Given the description of an element on the screen output the (x, y) to click on. 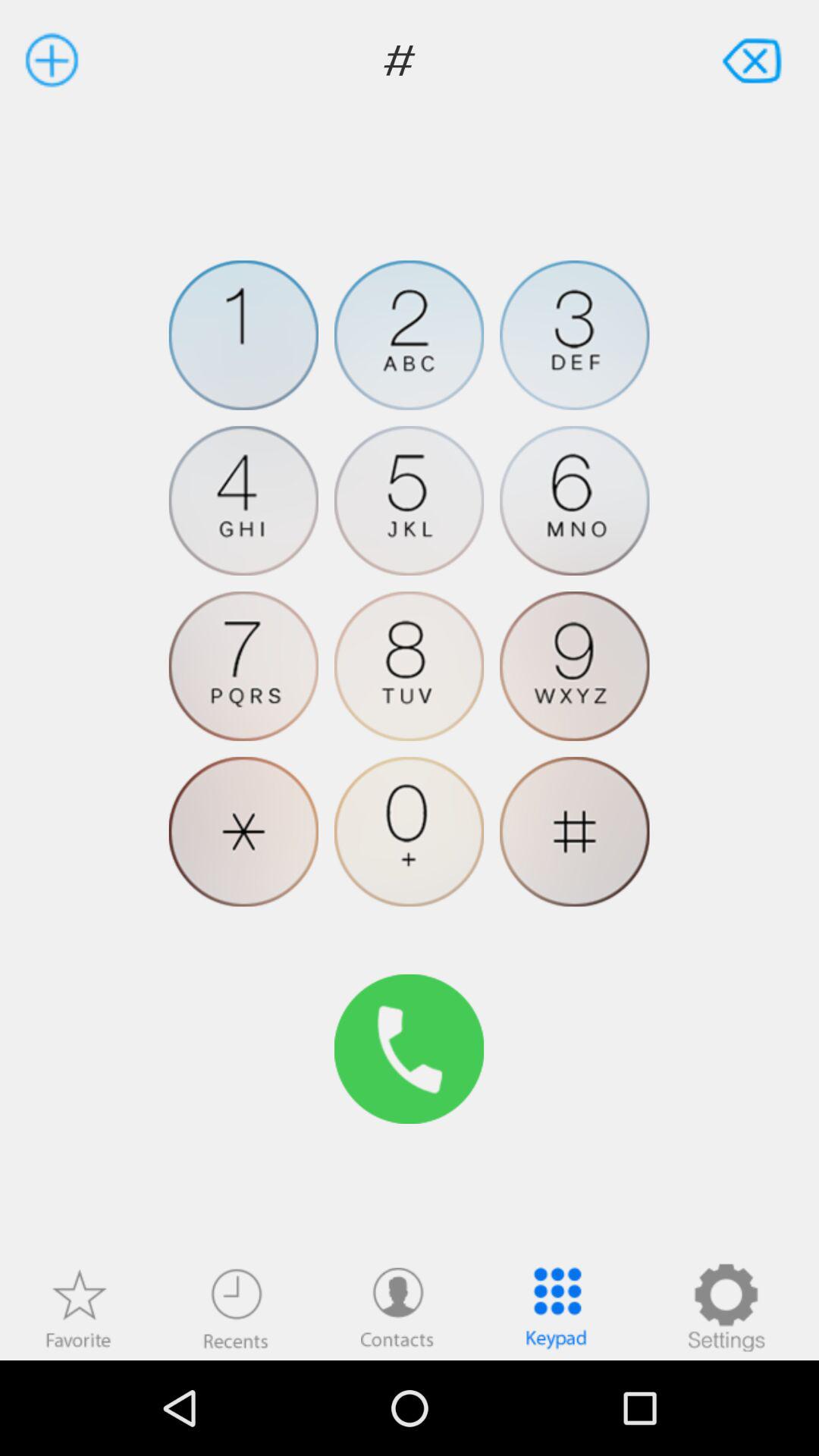
to close the dial pad (754, 59)
